Given the description of an element on the screen output the (x, y) to click on. 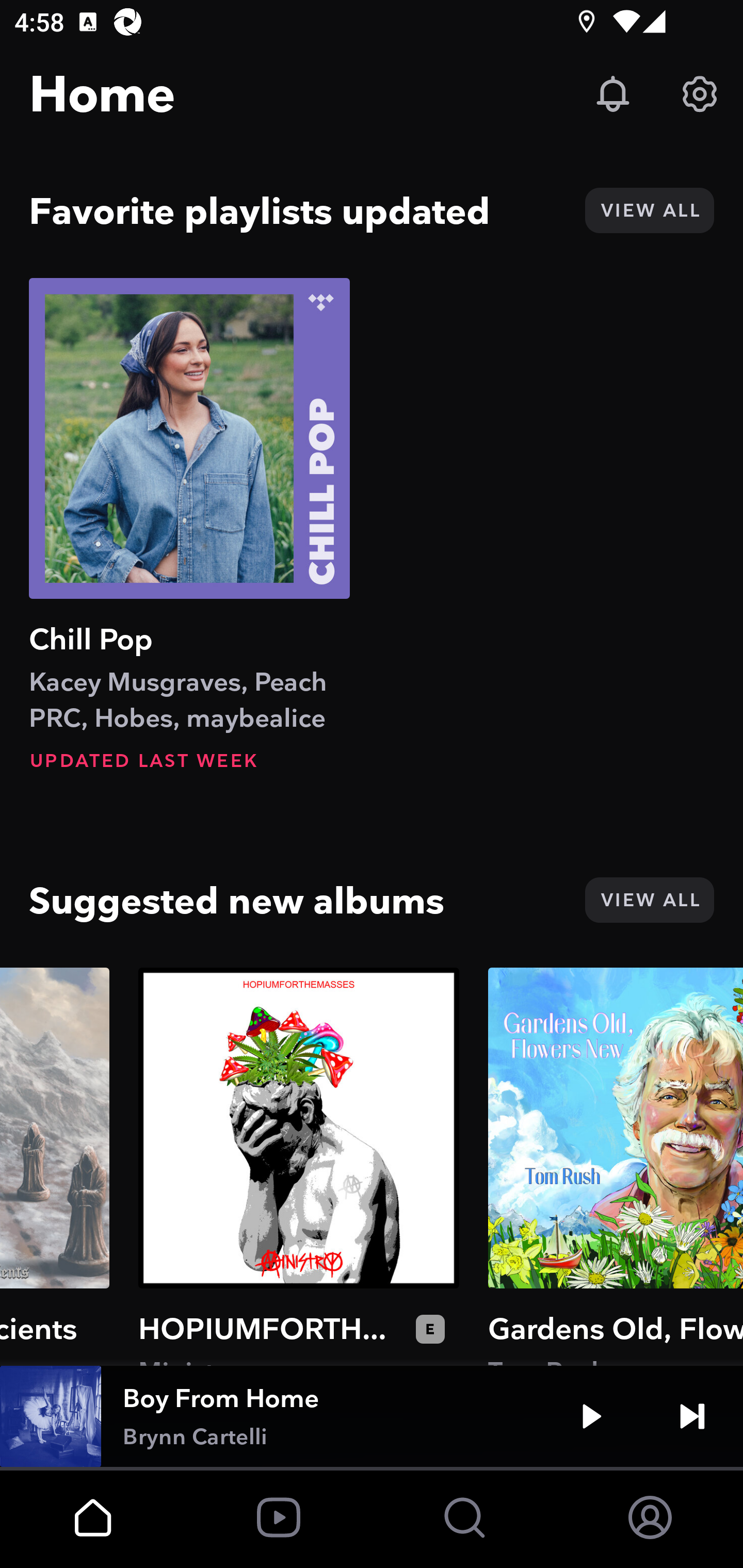
Updates (612, 93)
Settings (699, 93)
VIEW ALL (649, 210)
VIEW ALL (649, 899)
HOPIUMFORTHEMASSES Ministry (298, 1166)
Gardens Old, Flowers New Tom Rush (615, 1166)
Boy From Home Brynn Cartelli Play (371, 1416)
Play (590, 1416)
